Given the description of an element on the screen output the (x, y) to click on. 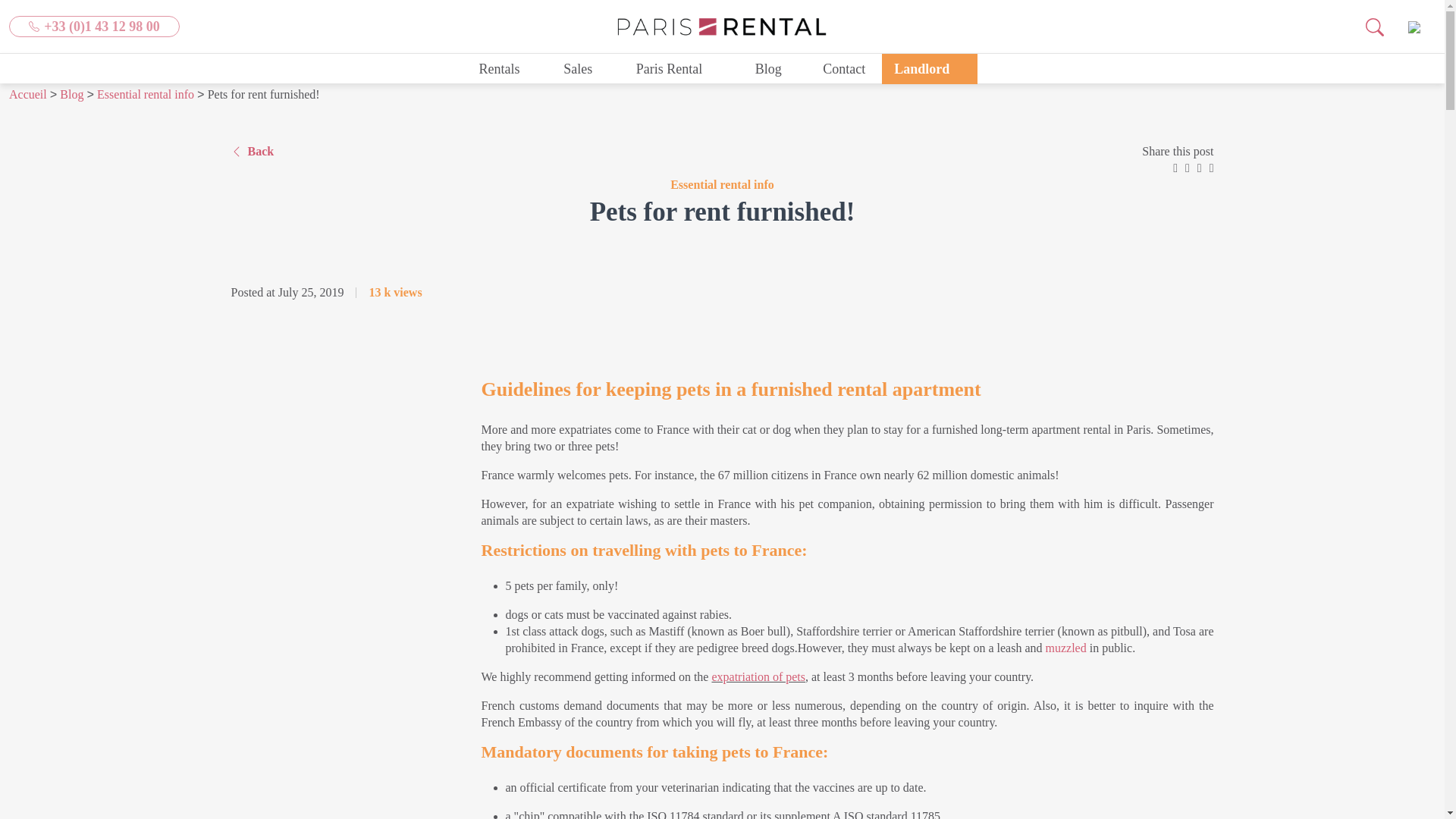
Landlord (929, 68)
Rentals (507, 68)
Blog (768, 68)
Contact (844, 68)
Paris Rental (677, 68)
Accueil (27, 93)
Sales (586, 68)
